Given the description of an element on the screen output the (x, y) to click on. 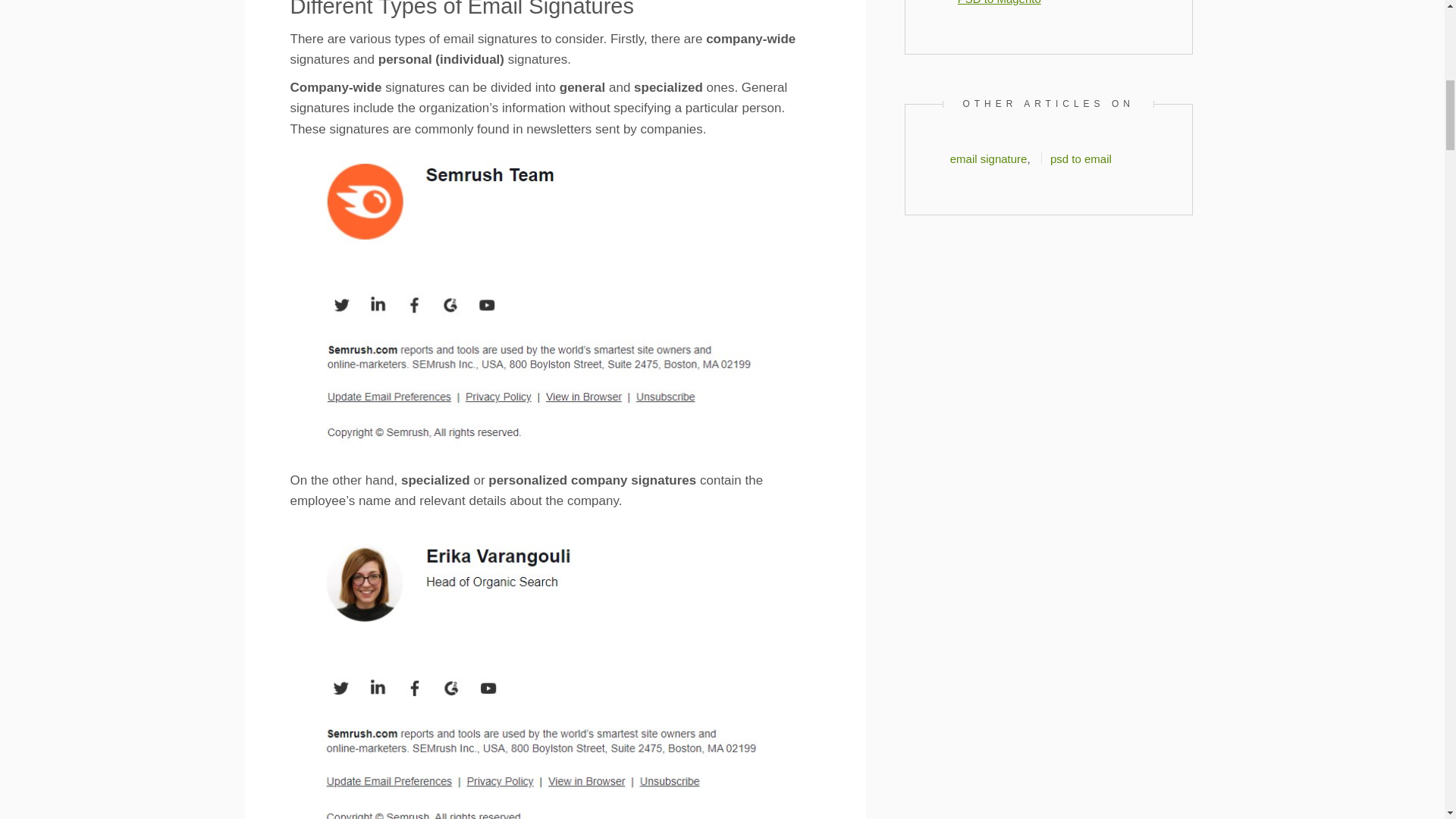
psd to email (1080, 158)
email signature (988, 158)
PSD to Magento (999, 2)
